Given the description of an element on the screen output the (x, y) to click on. 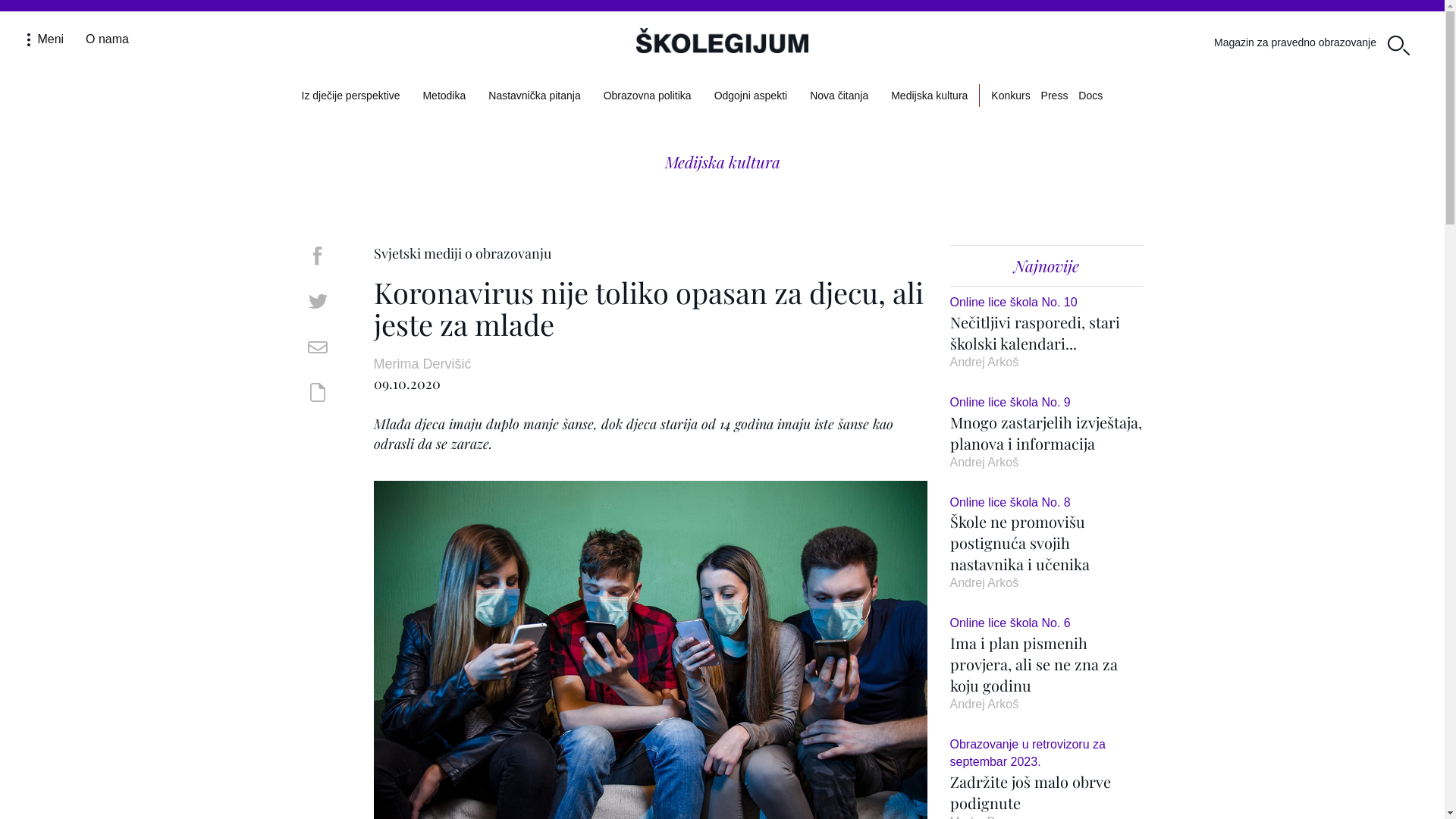
Press Element type: text (1054, 95)
Medijska kultura Element type: text (721, 161)
Odgojni aspekti Element type: text (750, 95)
Magazin za pravedno obrazovanje Element type: text (1295, 42)
Metodika Element type: text (443, 95)
O nama Element type: text (106, 38)
Medijska kultura Element type: text (929, 95)
Docs Element type: text (1090, 95)
Obrazovna politika Element type: text (647, 95)
Konkurs Element type: text (1010, 95)
Meni  Element type: text (46, 38)
